Given the description of an element on the screen output the (x, y) to click on. 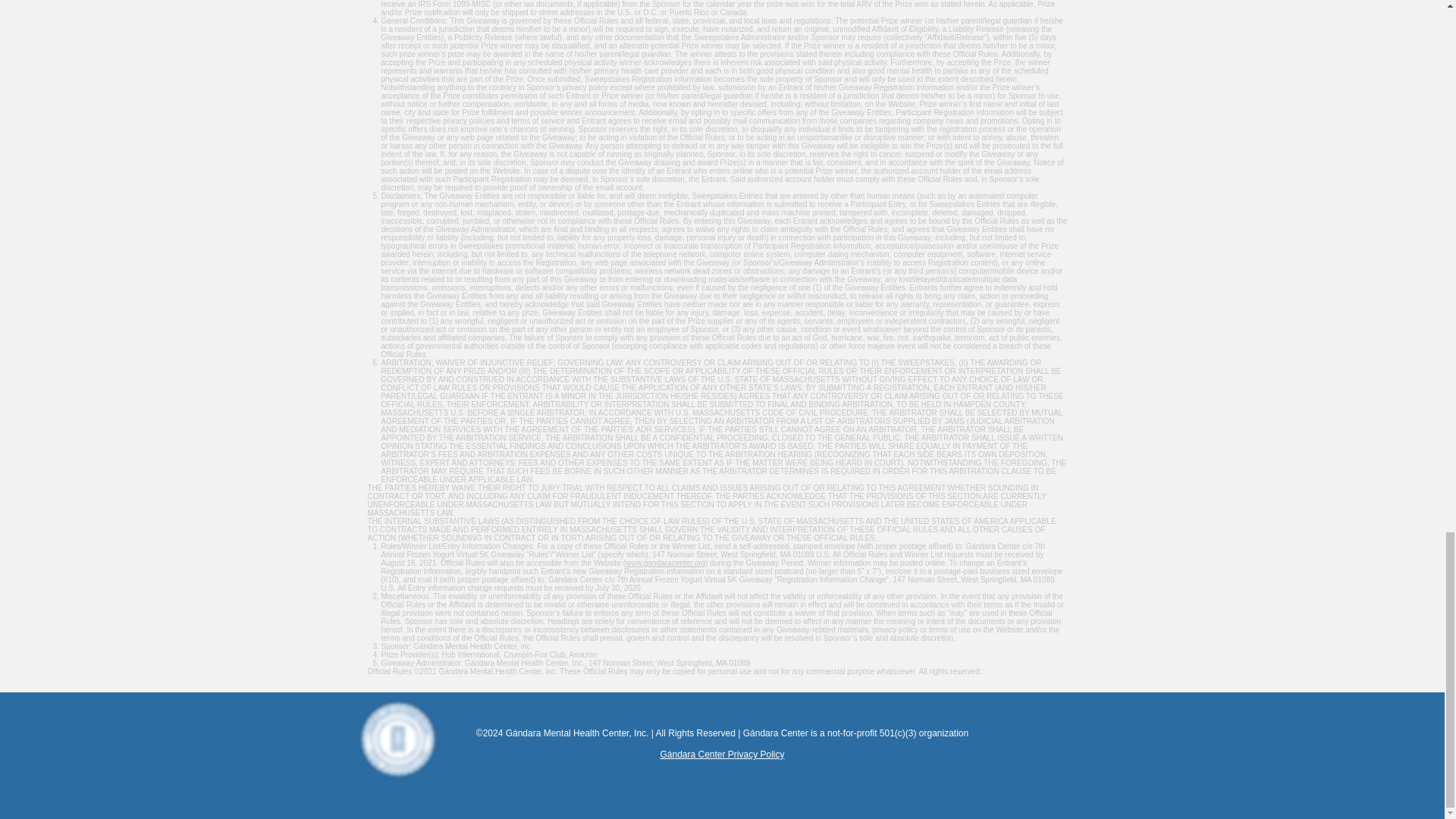
www.gandaracenter.org (665, 562)
